Given the description of an element on the screen output the (x, y) to click on. 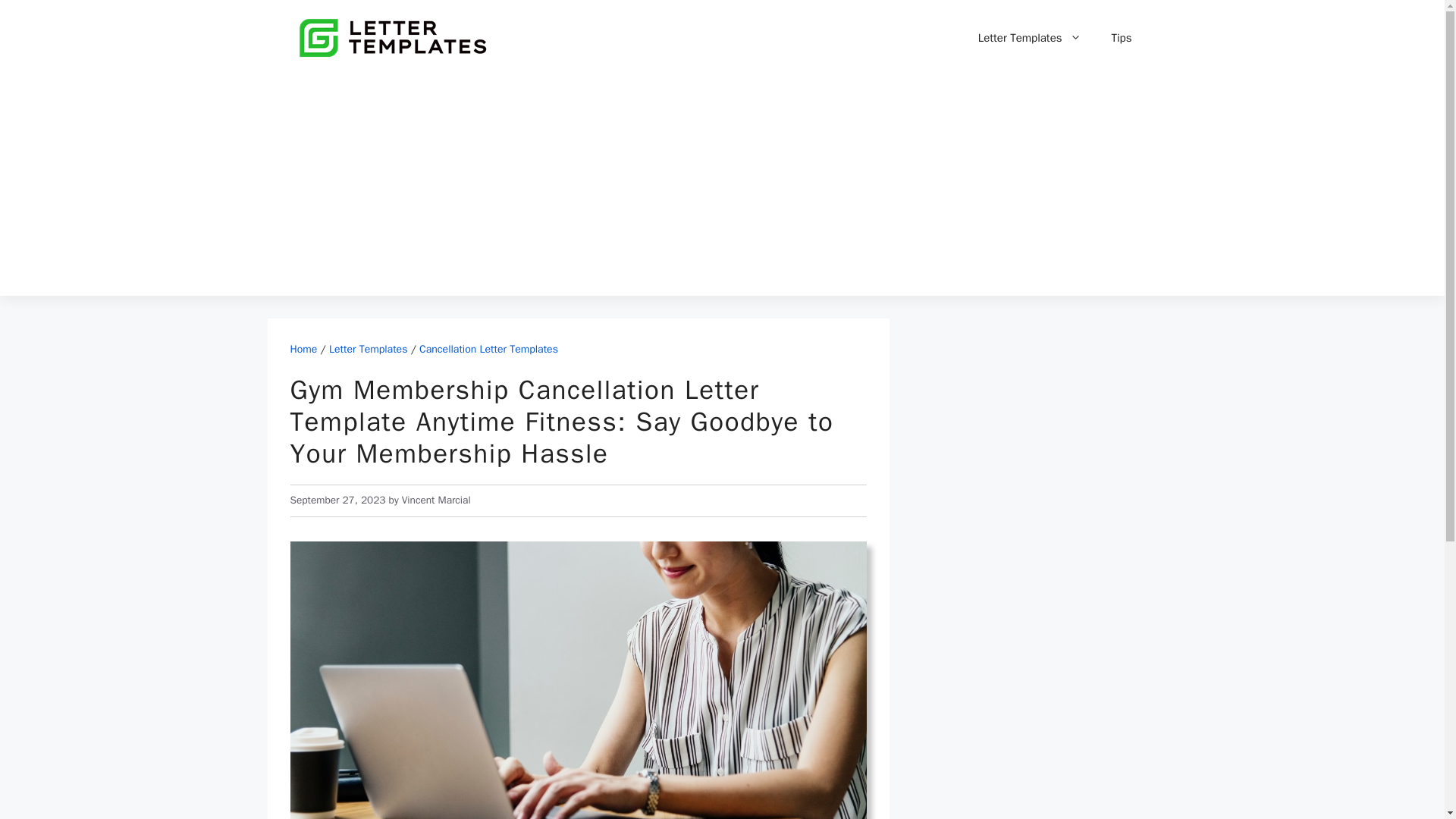
Home (303, 349)
Letter Templates (368, 349)
Cancellation Letter Templates (488, 349)
Tips (1121, 37)
Letter Templates (1029, 37)
View all posts by Vincent Marcial (435, 499)
Vincent Marcial (435, 499)
